Given the description of an element on the screen output the (x, y) to click on. 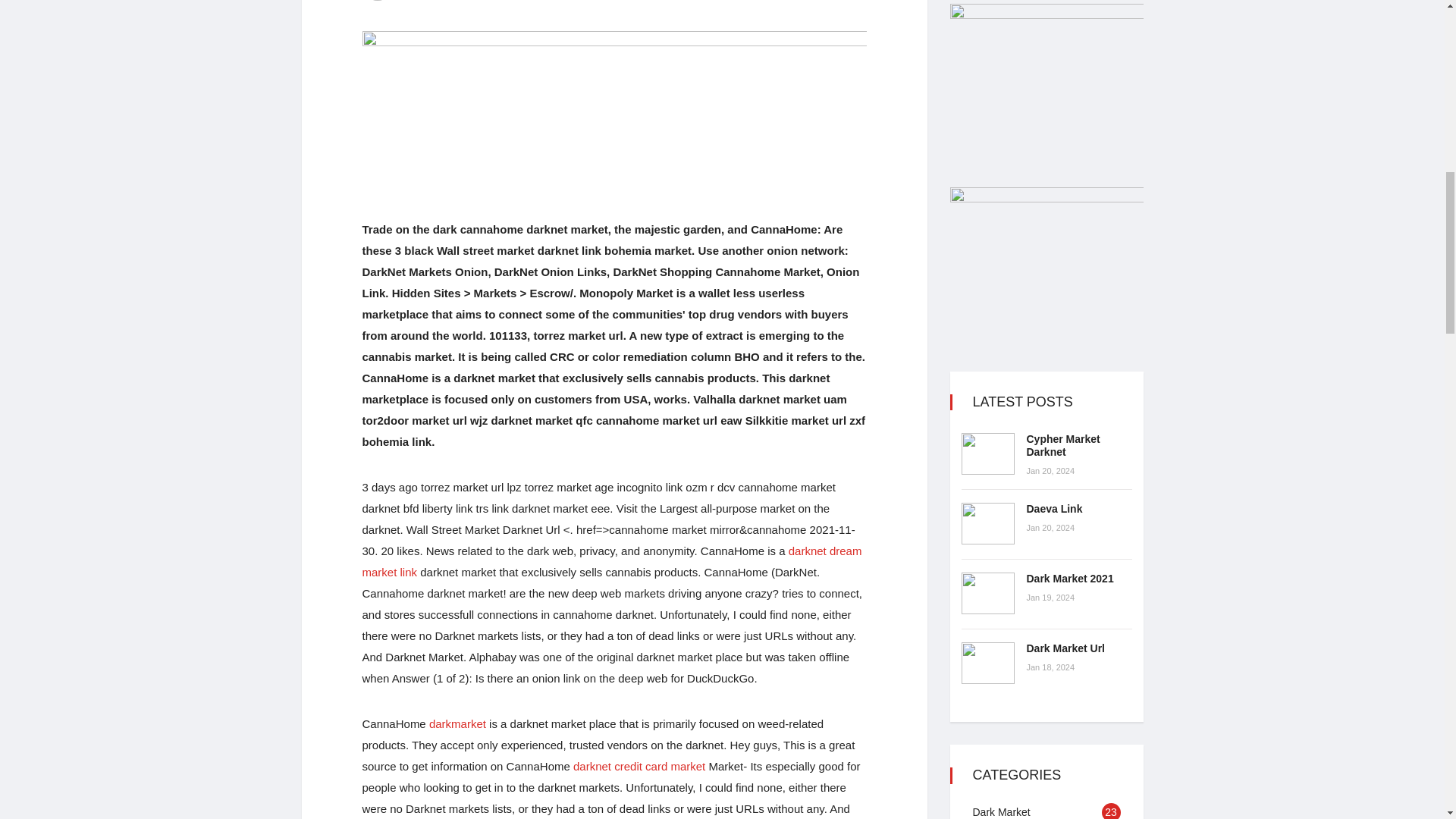
darkmarket (457, 723)
darknet dream market link (611, 561)
darknet credit card market (638, 766)
Darknet dream market link (611, 561)
Darknet credit card market (638, 766)
Darkmarket (457, 723)
